Given the description of an element on the screen output the (x, y) to click on. 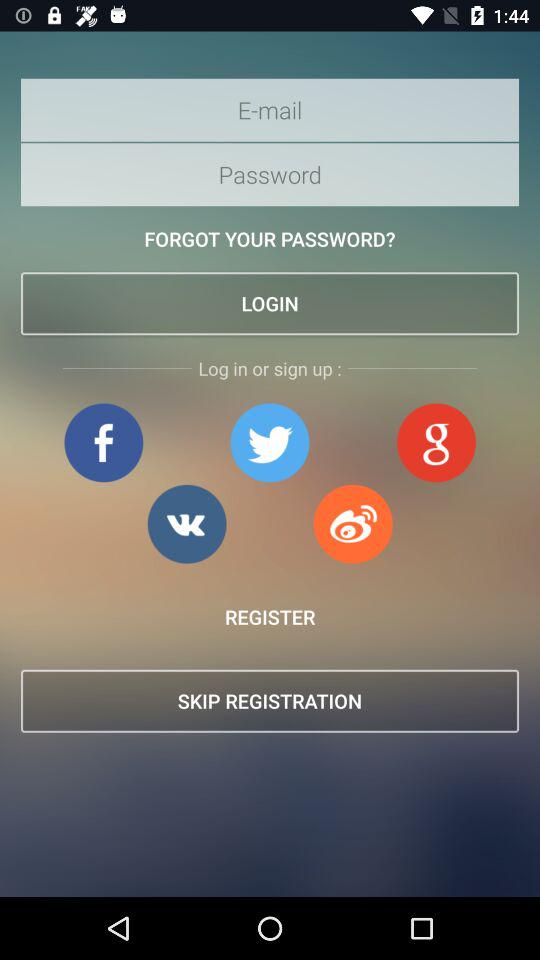
scroll until register icon (270, 616)
